Given the description of an element on the screen output the (x, y) to click on. 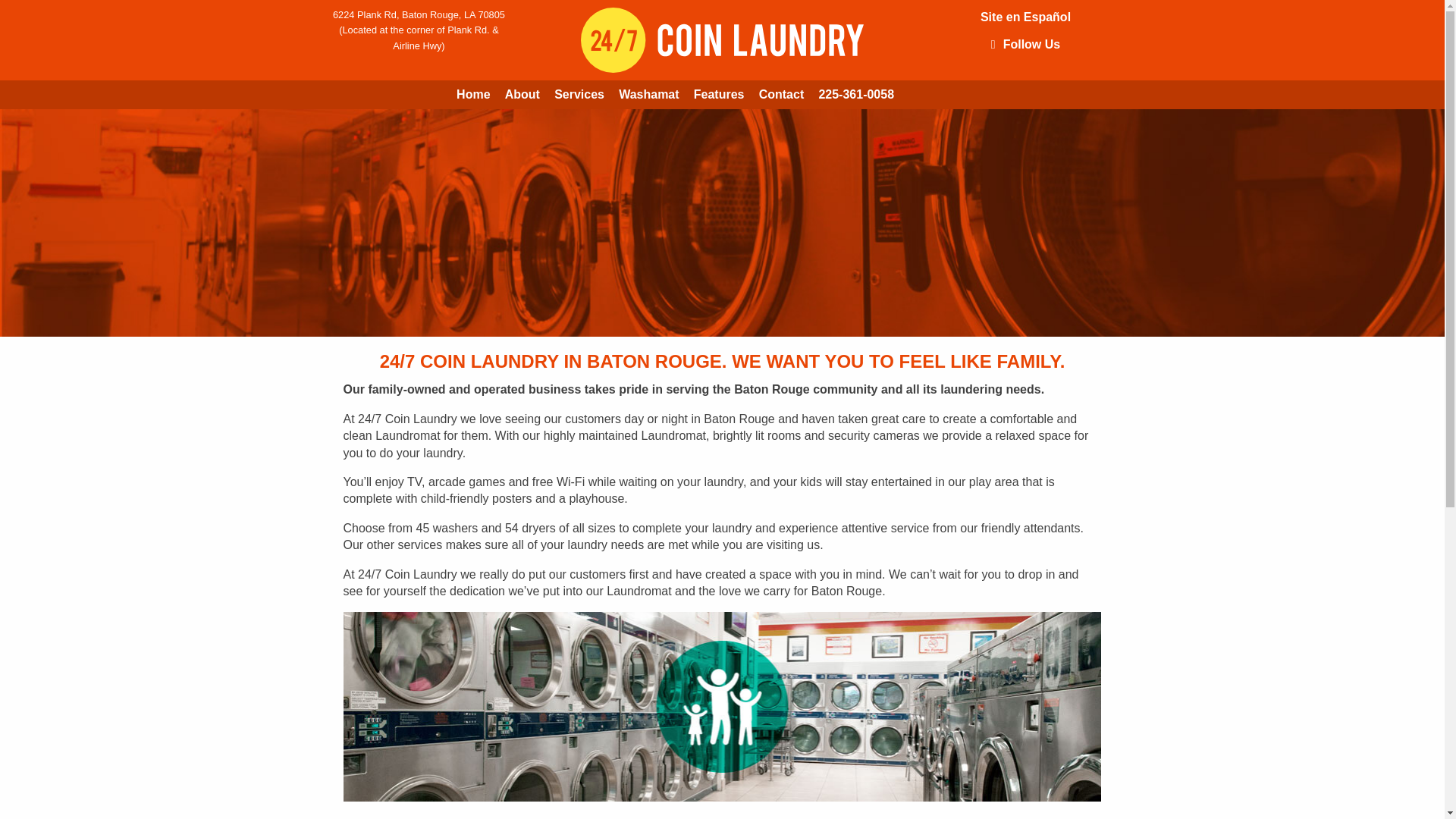
Features (718, 94)
Services (579, 94)
Washamat (649, 94)
About (522, 94)
225-361-0058 (855, 94)
Follow Us (1025, 43)
Contact (780, 94)
Home (472, 94)
